Given the description of an element on the screen output the (x, y) to click on. 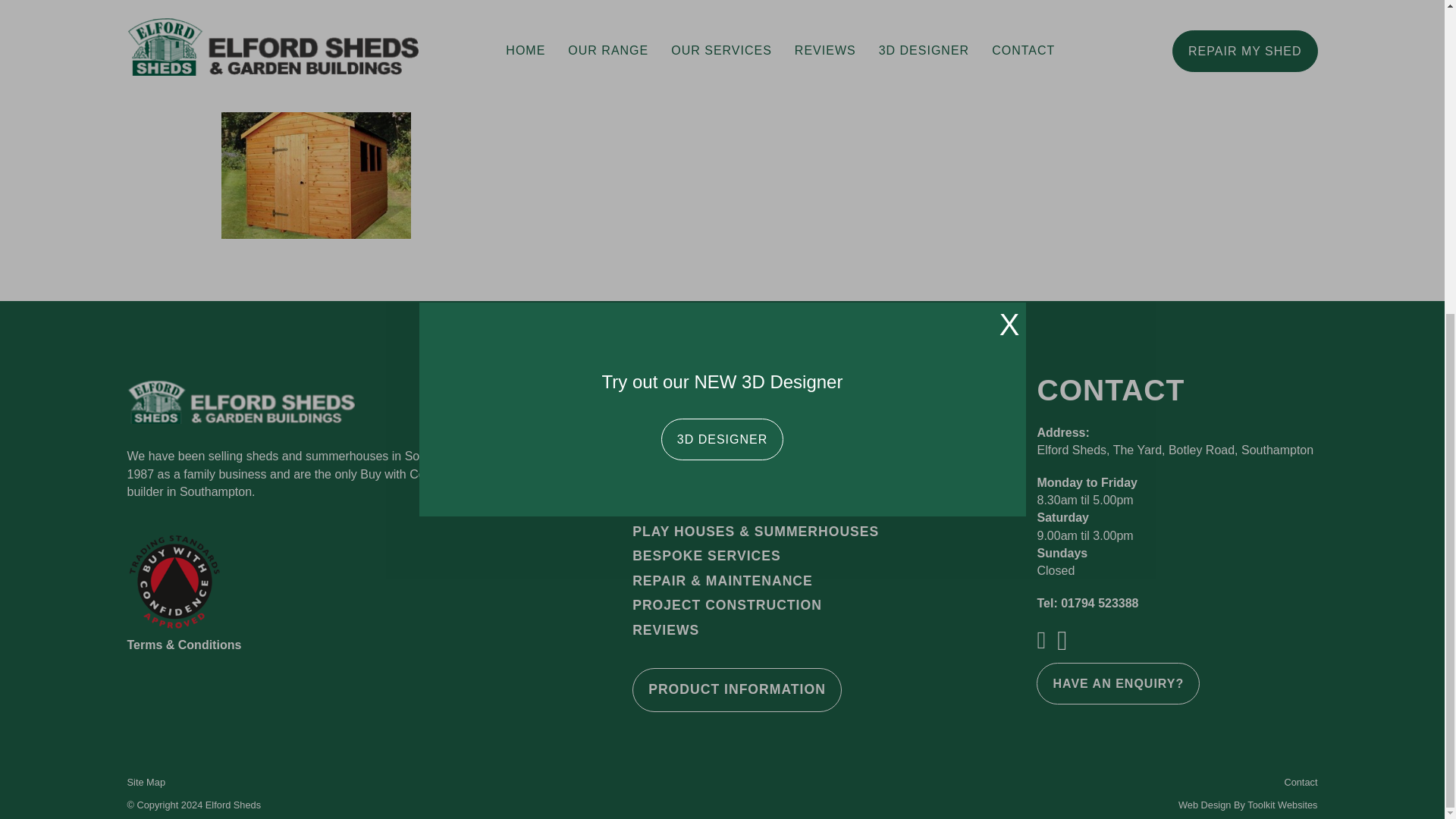
Tel: 01794 523388 (1087, 603)
REVIEWS (664, 630)
HOME (653, 433)
PROJECT CONSTRUCTION (726, 605)
HAVE AN ENQUIRY? (1117, 683)
PRODUCT INFORMATION (736, 689)
BESPOKE SERVICES (705, 556)
